Given the description of an element on the screen output the (x, y) to click on. 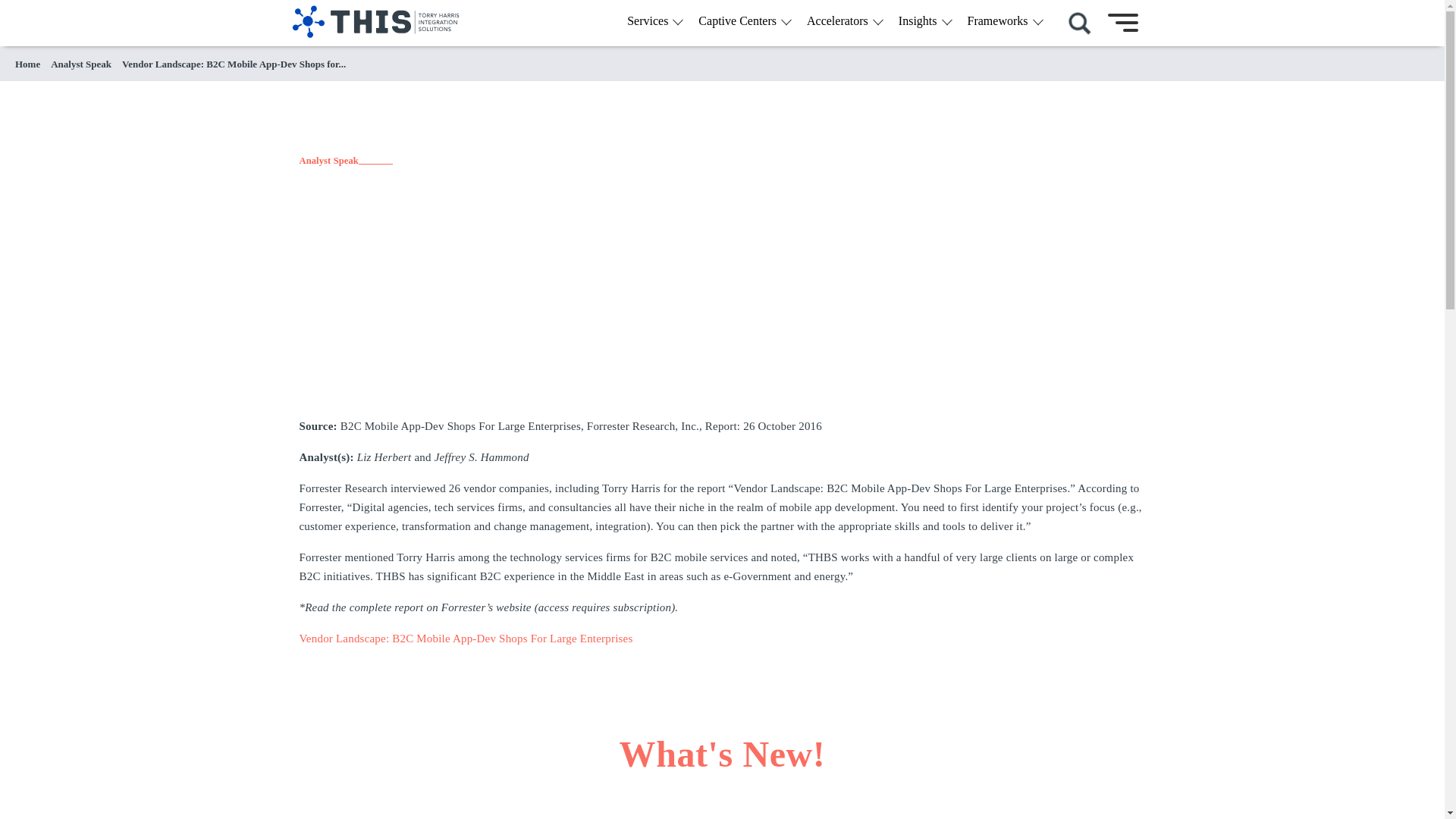
Insights (921, 20)
Services (651, 20)
Captive Centers (741, 20)
Accelerators (841, 20)
